Given the description of an element on the screen output the (x, y) to click on. 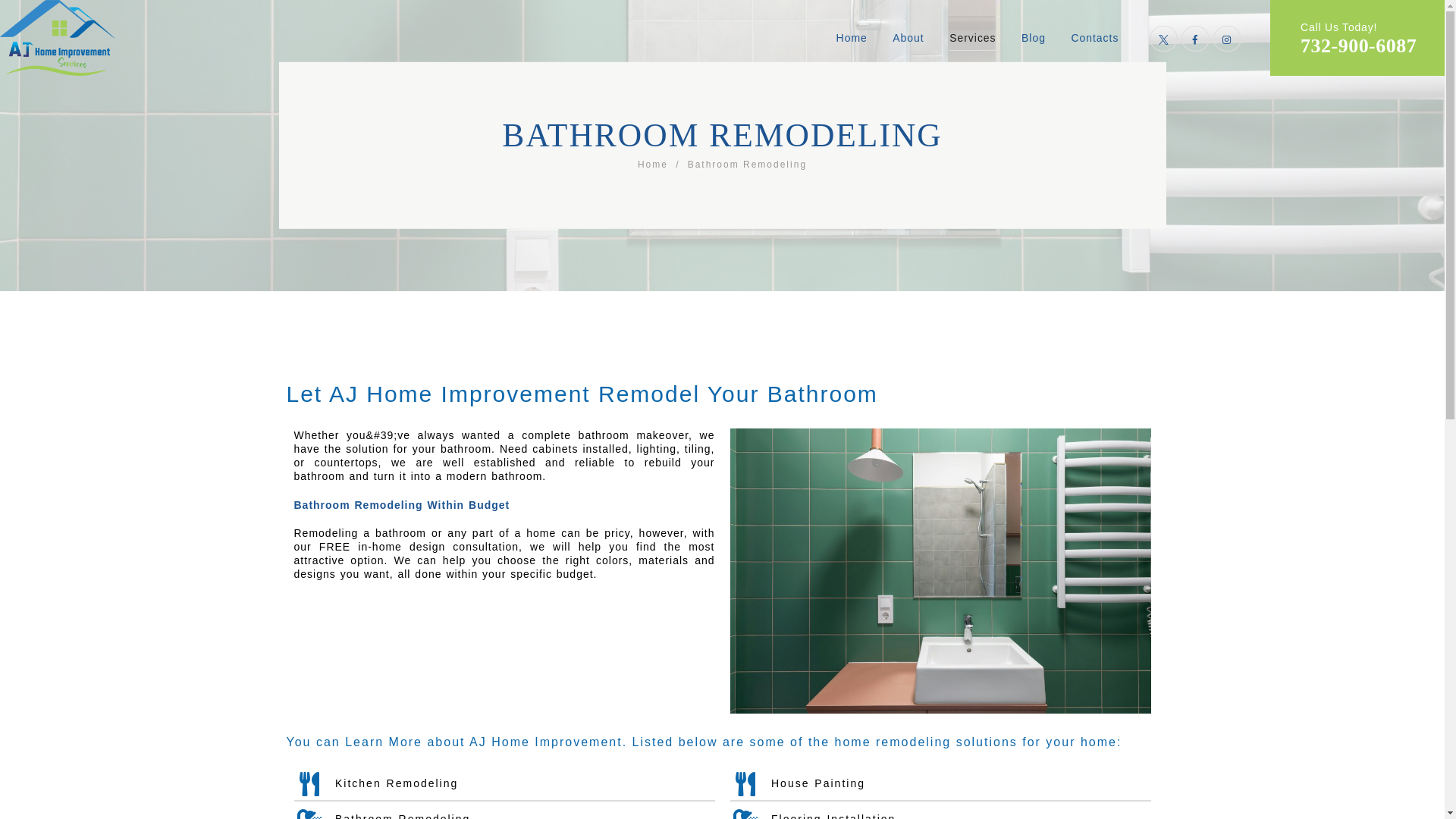
Services (972, 38)
Home (851, 38)
Blog (1033, 38)
732-900-6087 (1358, 45)
About (907, 38)
Home (652, 164)
Contacts (1094, 38)
